Given the description of an element on the screen output the (x, y) to click on. 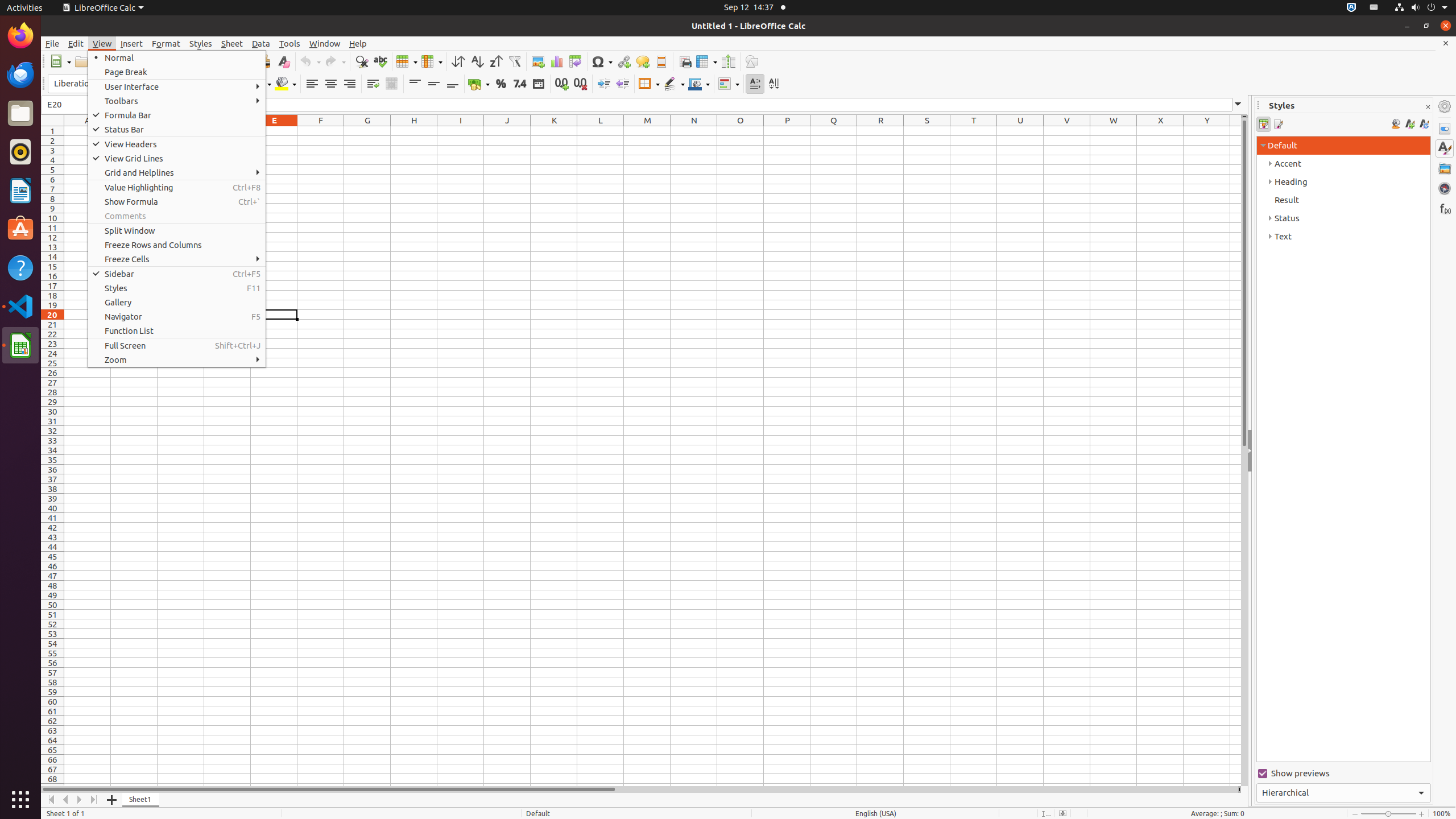
Show Applications Element type: toggle-button (20, 799)
Gallery Element type: radio-button (1444, 168)
New Element type: push-button (59, 61)
Data Element type: menu (260, 43)
Sheet1 Element type: page-tab (140, 799)
